Given the description of an element on the screen output the (x, y) to click on. 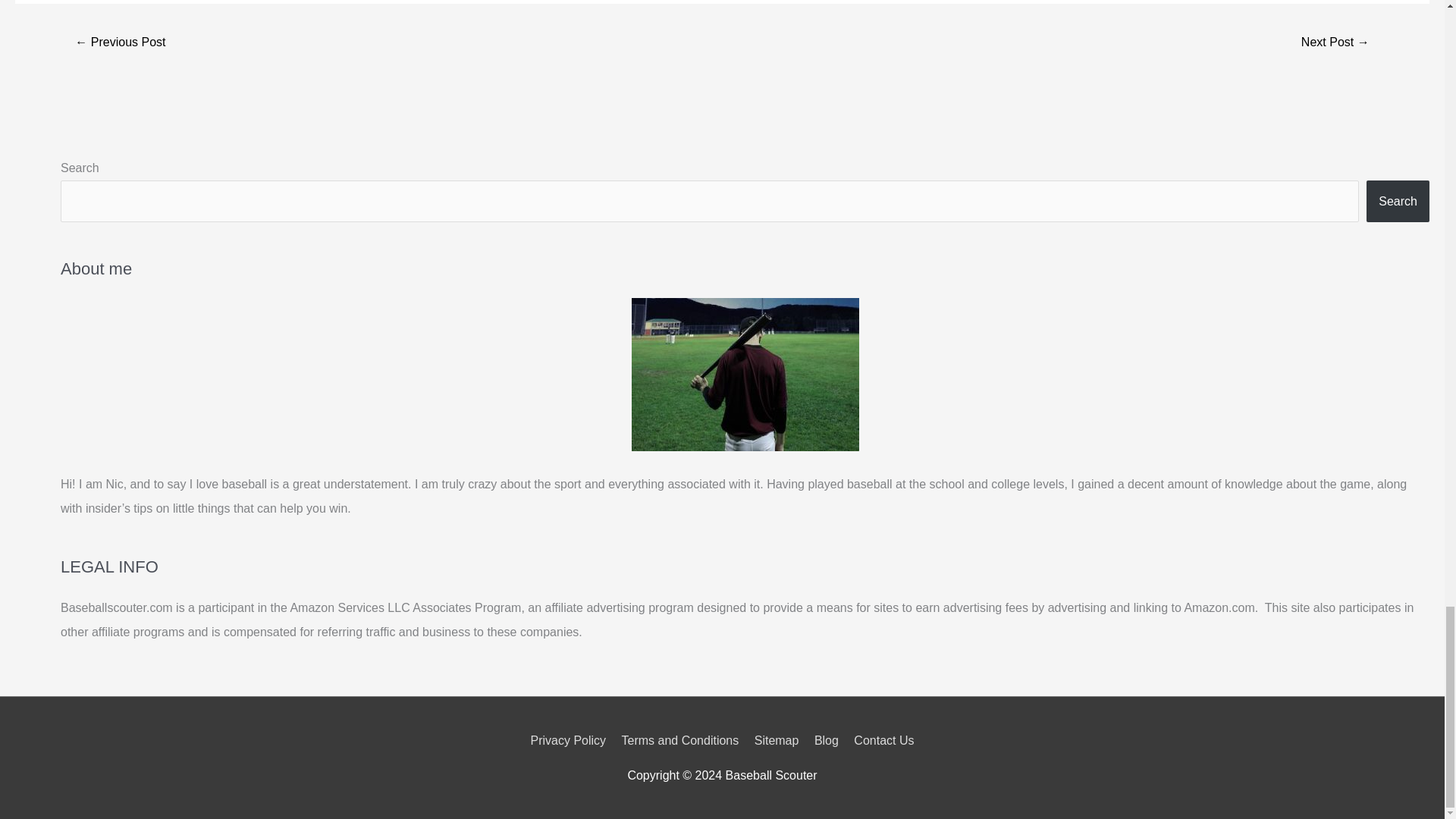
Blog (826, 739)
Sitemap (776, 739)
Search (1398, 200)
7 Best Turf Shoes for Baseball for 2024: A Primer (1334, 43)
Privacy Policy (570, 739)
Contact Us (880, 739)
4 Seam Vs. 2 Seam Fastball: What Are The Differences (119, 43)
Terms and Conditions (680, 739)
